Given the description of an element on the screen output the (x, y) to click on. 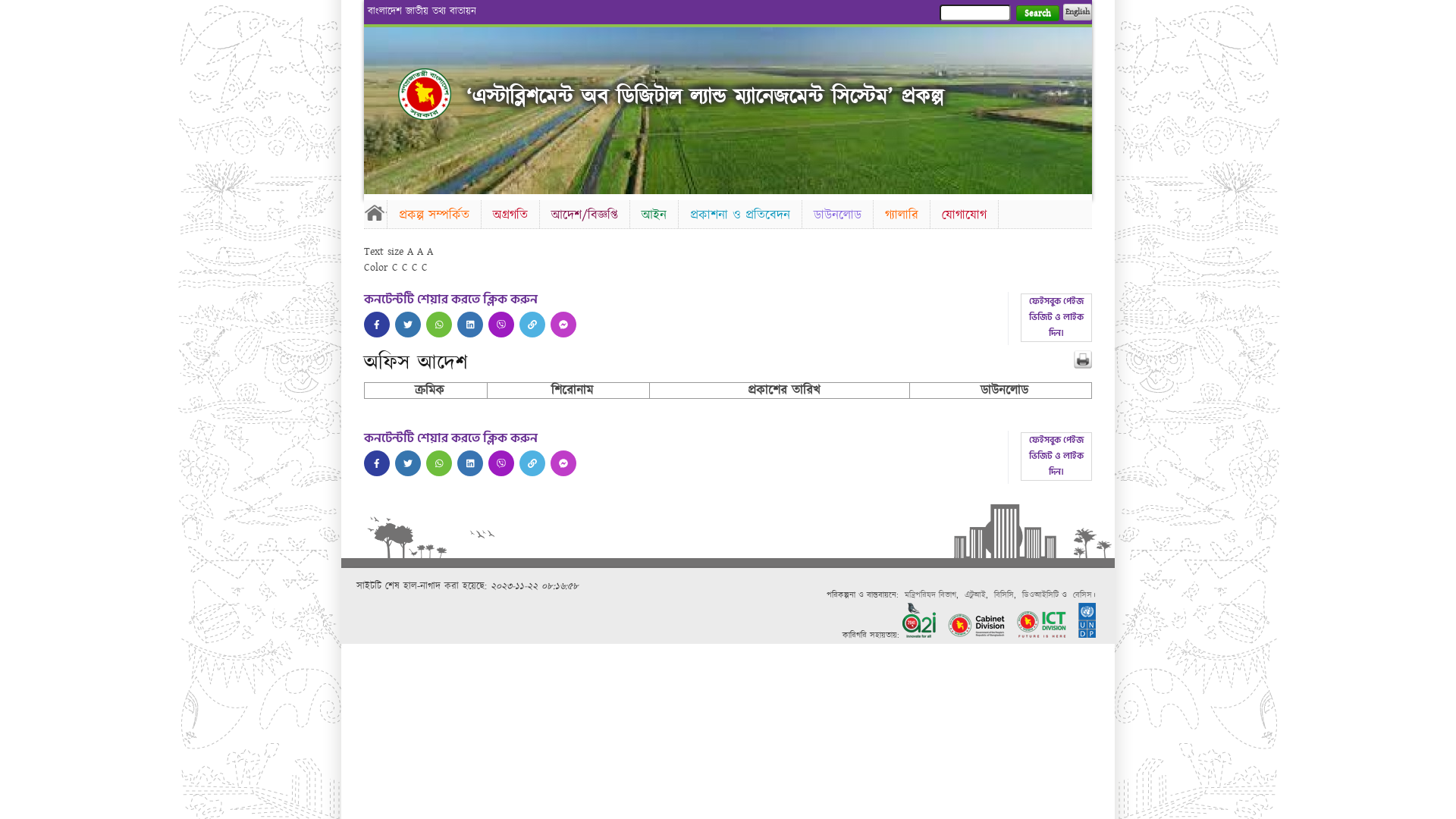
C Element type: text (424, 267)
A Element type: text (420, 251)
Home Element type: hover (375, 211)
Home Element type: hover (424, 93)
C Element type: text (395, 267)
A Element type: text (429, 251)
C Element type: text (414, 267)
C Element type: text (404, 267)
A Element type: text (410, 251)
English Element type: text (1077, 11)
Search Element type: text (1037, 13)
